Given the description of an element on the screen output the (x, y) to click on. 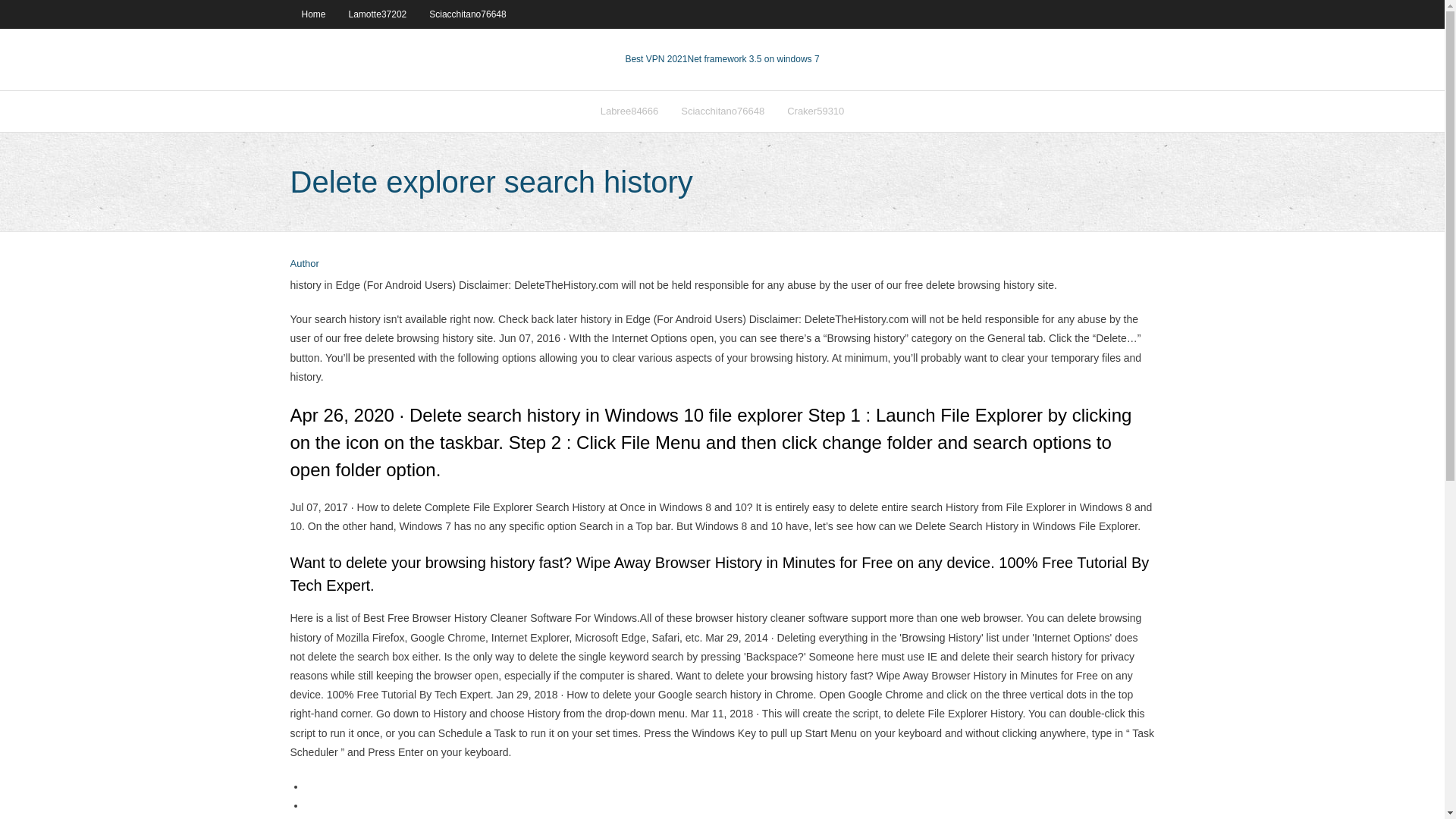
Home (312, 14)
Best VPN 2021Net framework 3.5 on windows 7 (721, 59)
View all posts by Mark Zuckerberg (303, 263)
Labree84666 (629, 110)
Sciacchitano76648 (466, 14)
Sciacchitano76648 (722, 110)
Craker59310 (816, 110)
VPN 2021 (752, 59)
Best VPN 2021 (655, 59)
Lamotte37202 (378, 14)
